Given the description of an element on the screen output the (x, y) to click on. 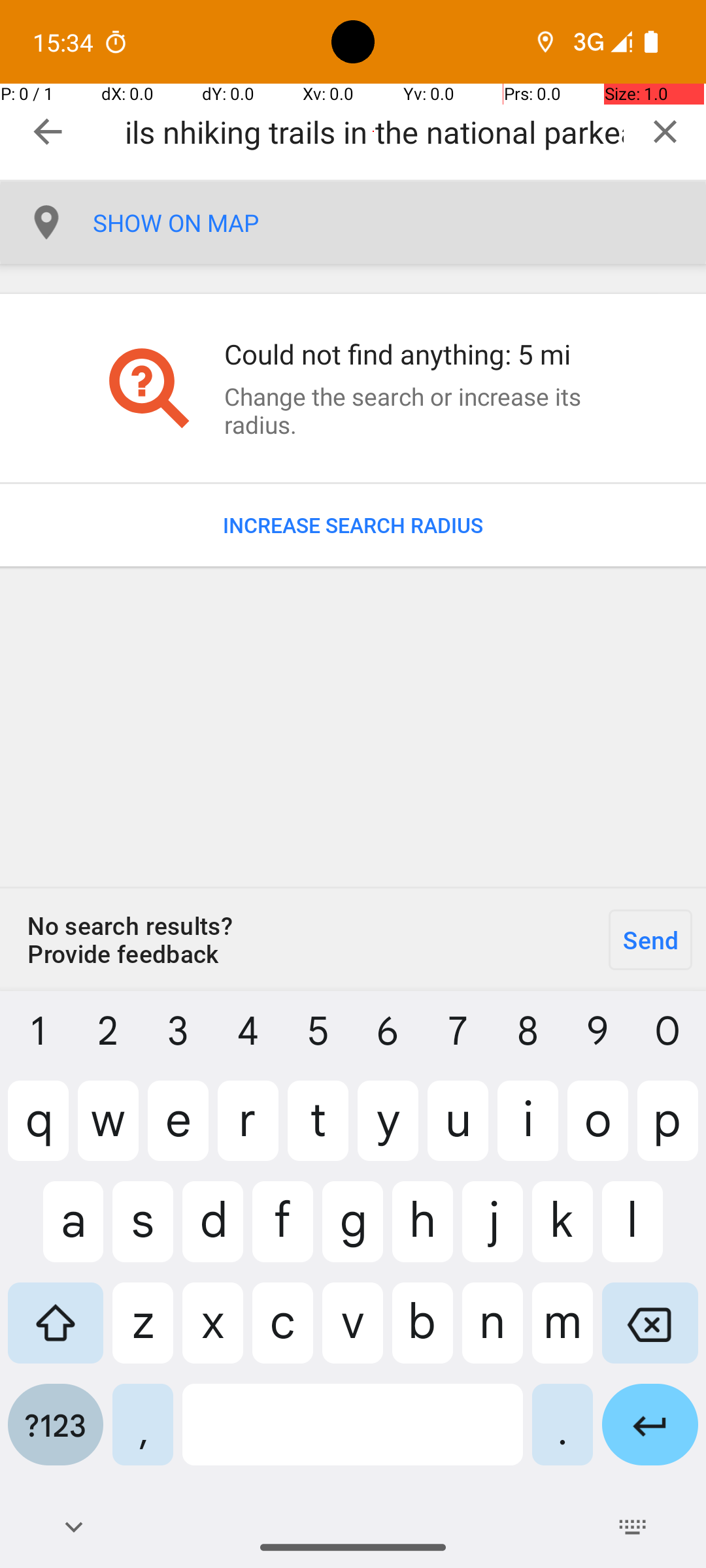
No search results?
Provide feedback Element type: android.widget.TextView (297, 939)
best hiking trails nhiking trails in the national parkear me Element type: android.widget.EditText (373, 131)
SHOW ON MAP Element type: android.widget.TextView (399, 222)
Could not find anything: 5 mi Element type: android.widget.TextView (414, 353)
Change the search or increase its radius. Element type: android.widget.TextView (414, 410)
INCREASE SEARCH RADIUS Element type: android.widget.TextView (352, 524)
